Given the description of an element on the screen output the (x, y) to click on. 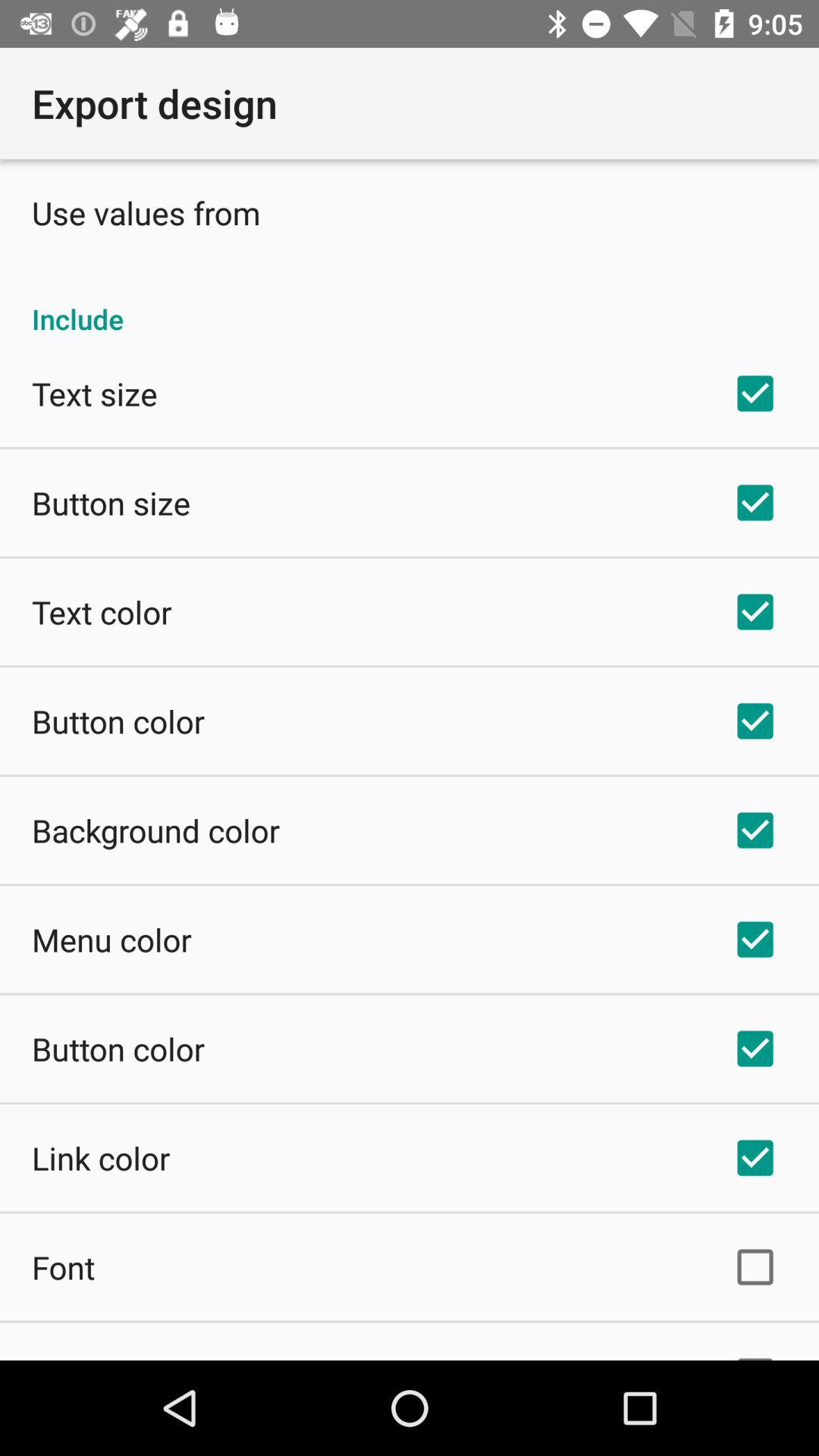
tap app below the background color app (111, 939)
